Given the description of an element on the screen output the (x, y) to click on. 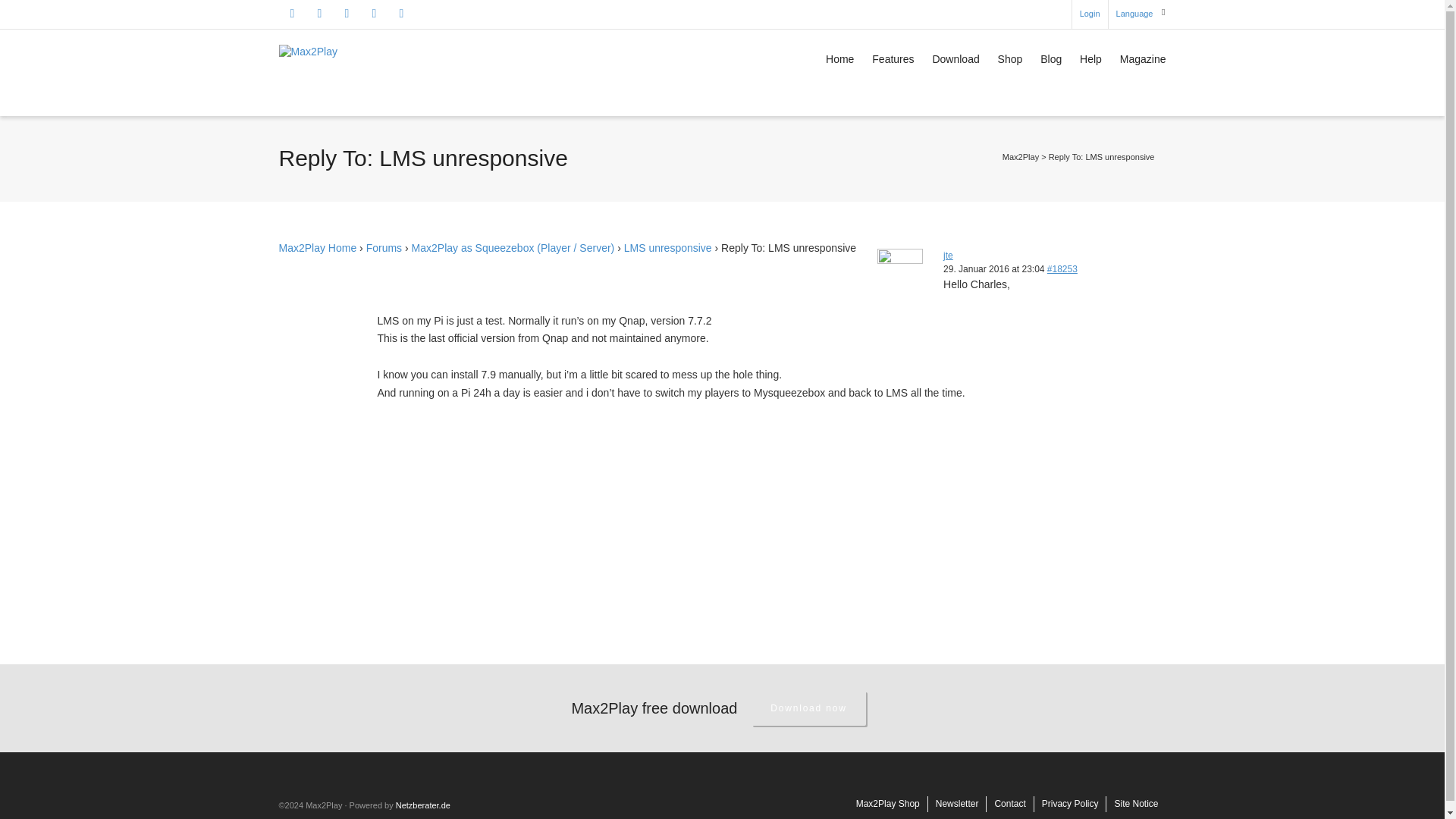
Gehe zu Max2Play. (1021, 156)
Language (1134, 14)
Reply To: LMS unresponsive (1061, 268)
View jte's profile (948, 255)
Features (893, 60)
